Given the description of an element on the screen output the (x, y) to click on. 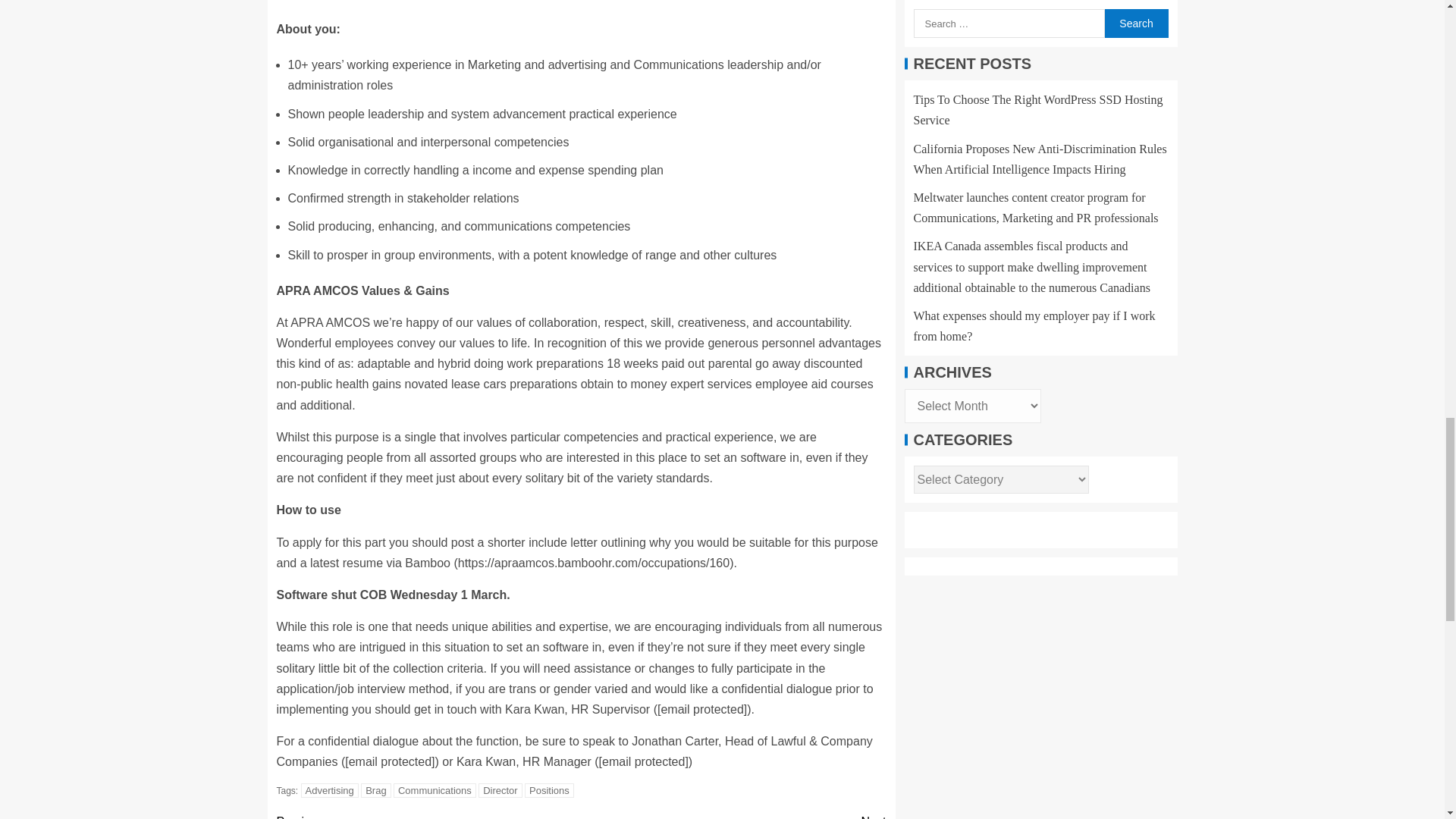
Brag (375, 789)
Communications (434, 789)
Positions (548, 789)
Director (500, 789)
Advertising (329, 789)
